Given the description of an element on the screen output the (x, y) to click on. 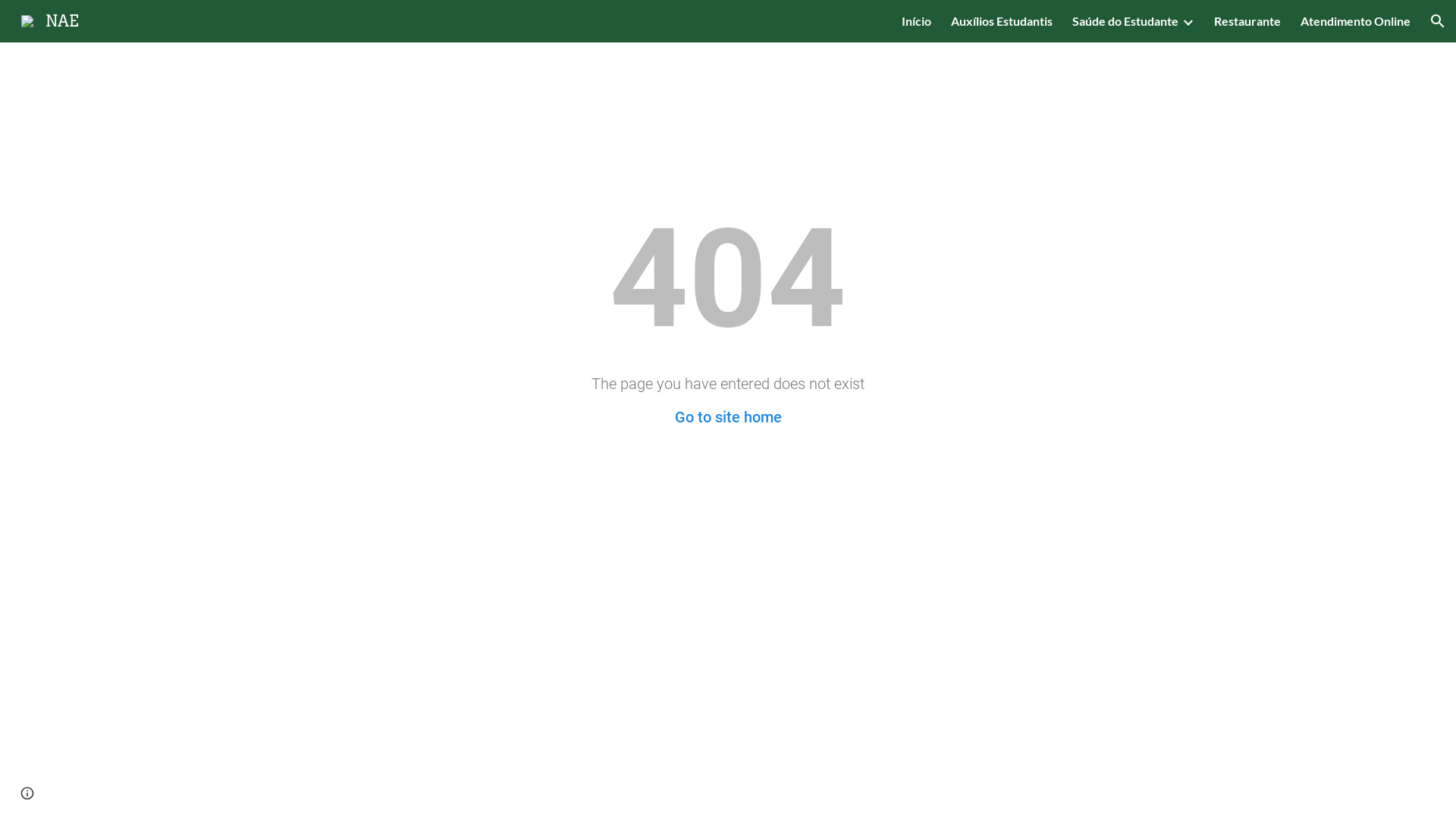
NAE Element type: text (49, 19)
Atendimento Online Element type: text (1355, 20)
Expand/Collapse Element type: hover (1187, 20)
Go to site home Element type: text (727, 416)
Restaurante Element type: text (1247, 20)
